Given the description of an element on the screen output the (x, y) to click on. 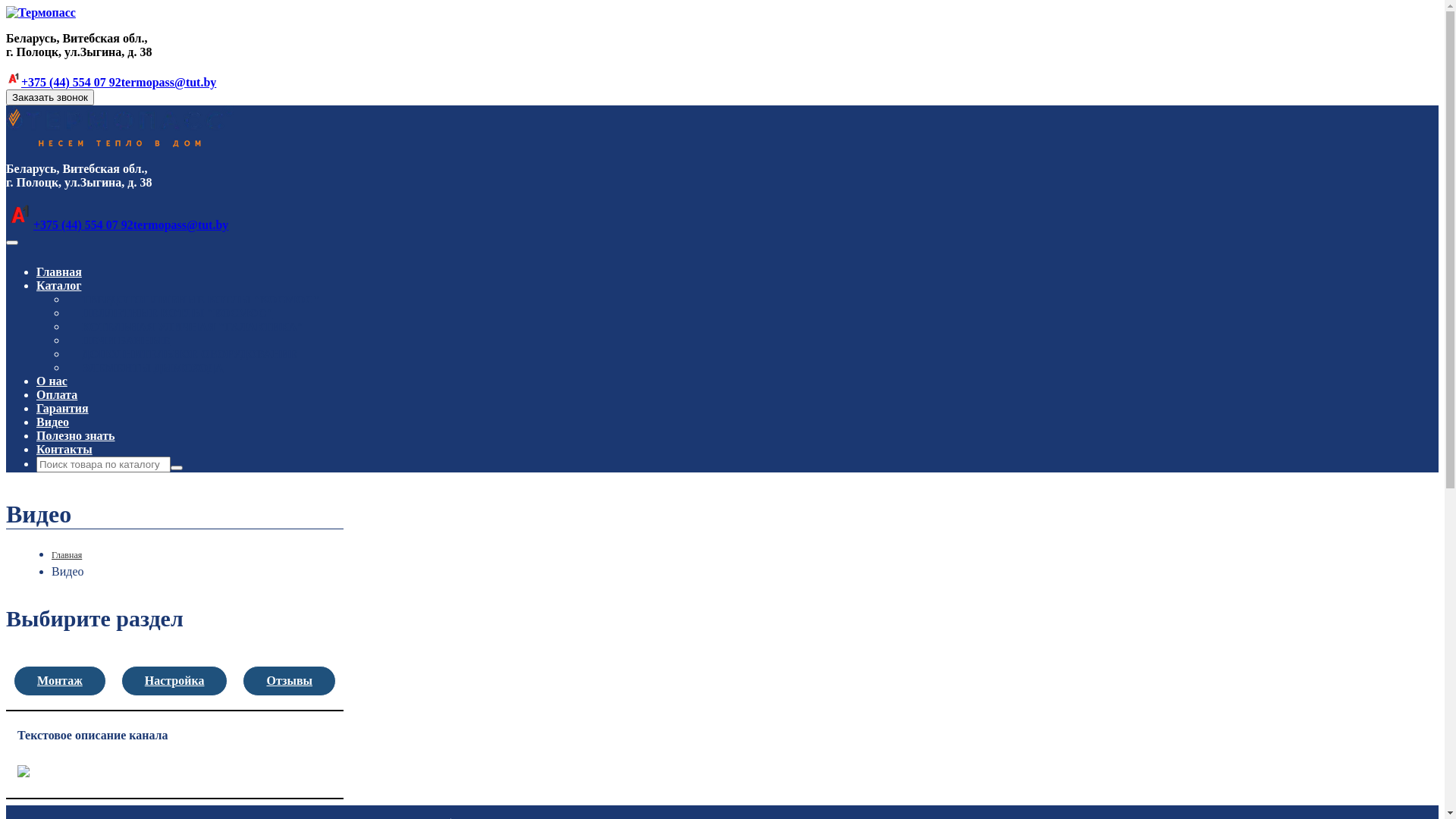
+375 (44) 554 07 92 Element type: text (69, 224)
termopass@tut.by Element type: text (168, 81)
+375 (44) 554 07 92 Element type: text (63, 81)
termopass@tut.by Element type: text (181, 224)
